Given the description of an element on the screen output the (x, y) to click on. 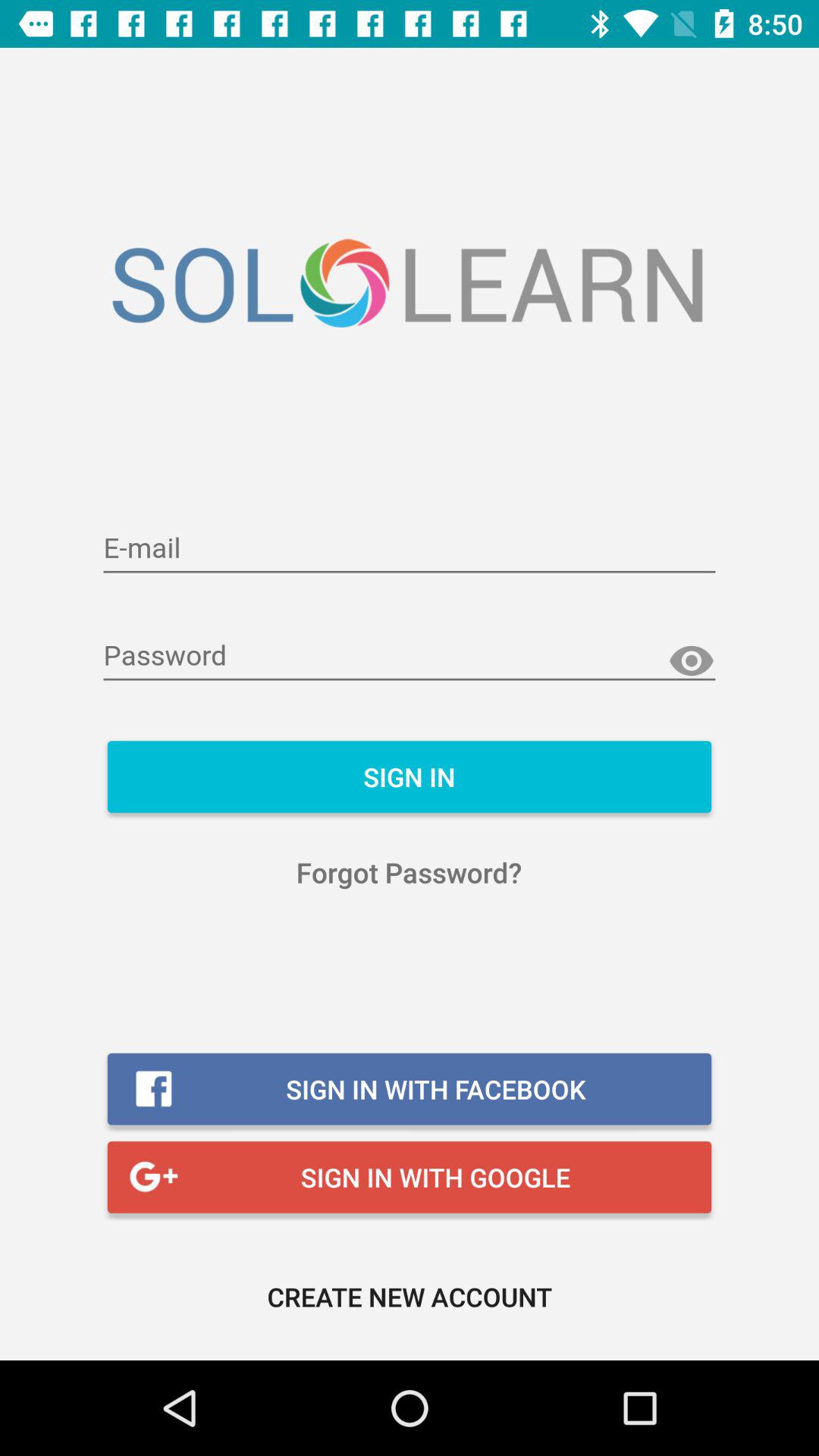
enter email/username (409, 548)
